Given the description of an element on the screen output the (x, y) to click on. 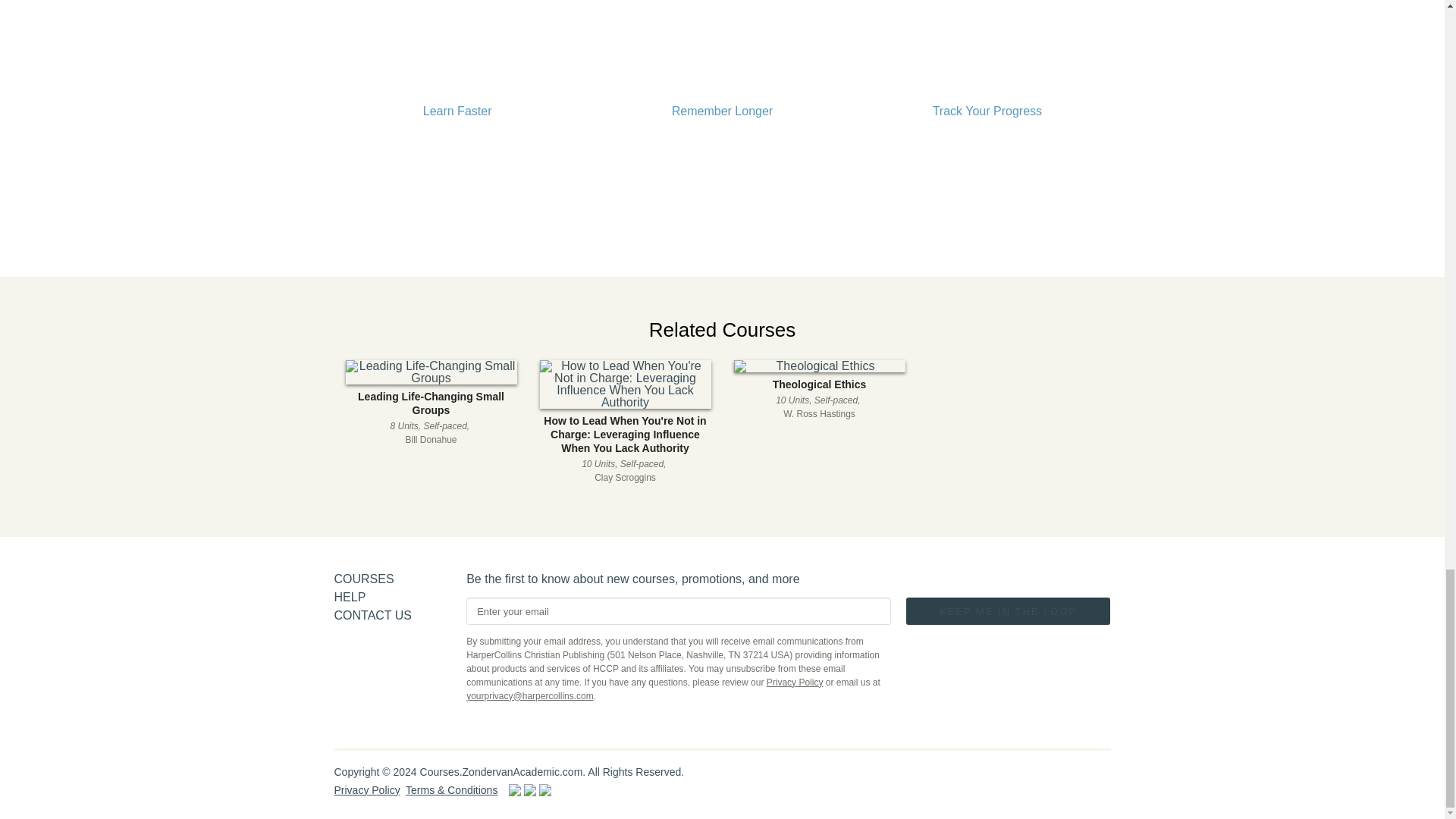
Privacy Policy (365, 789)
Follow on Facebook (1091, 775)
KEEP ME IN THE LOOP (1007, 610)
Subscribe on YouTube (818, 390)
HELP (986, 775)
CONTACT US (349, 596)
COURSES (372, 615)
